Given the description of an element on the screen output the (x, y) to click on. 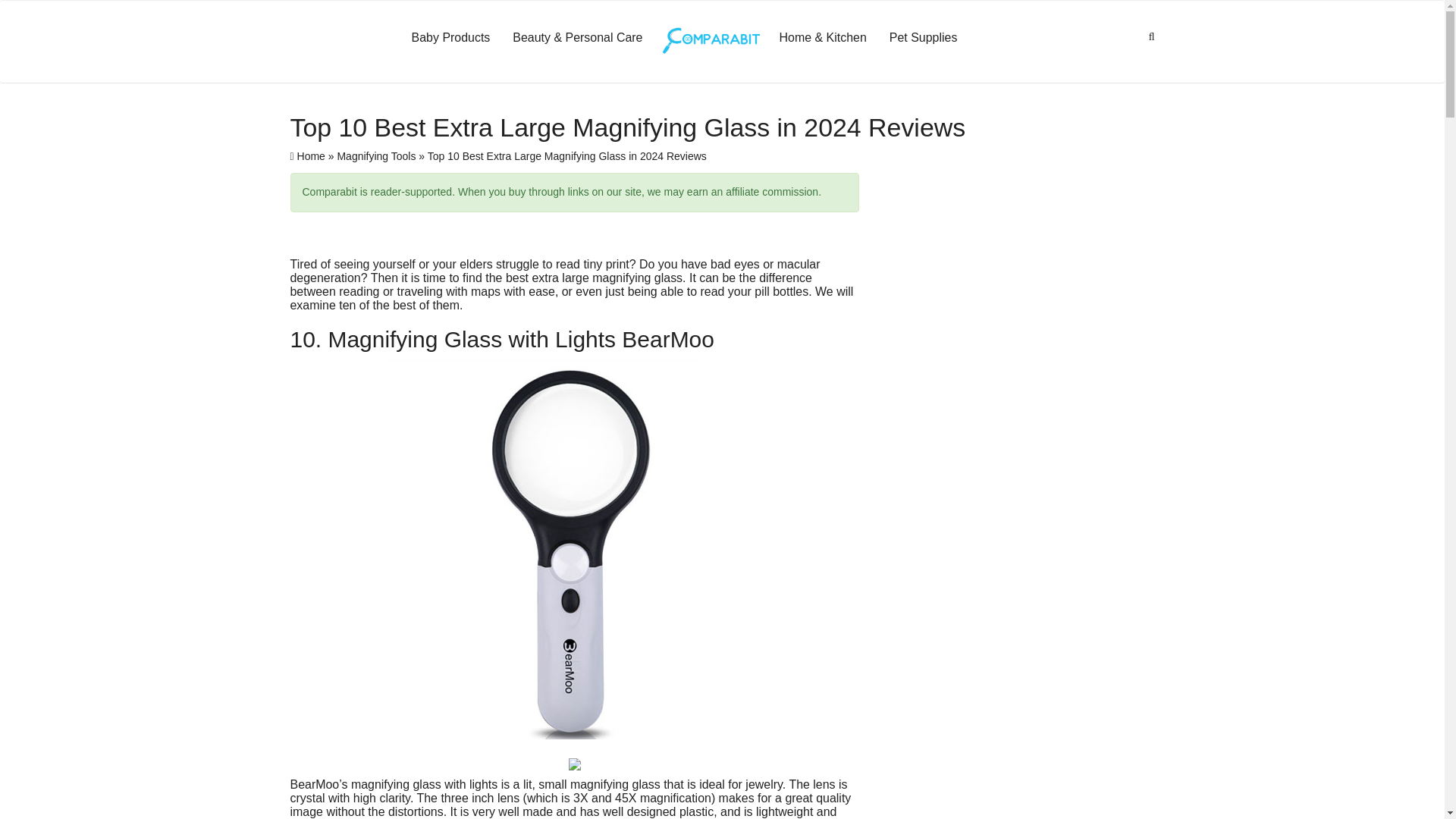
Pet Supplies (923, 37)
Pet Supplies (923, 37)
Magnifying Tools (375, 155)
Home (306, 155)
Baby Products (451, 37)
Baby Products (451, 37)
